Given the description of an element on the screen output the (x, y) to click on. 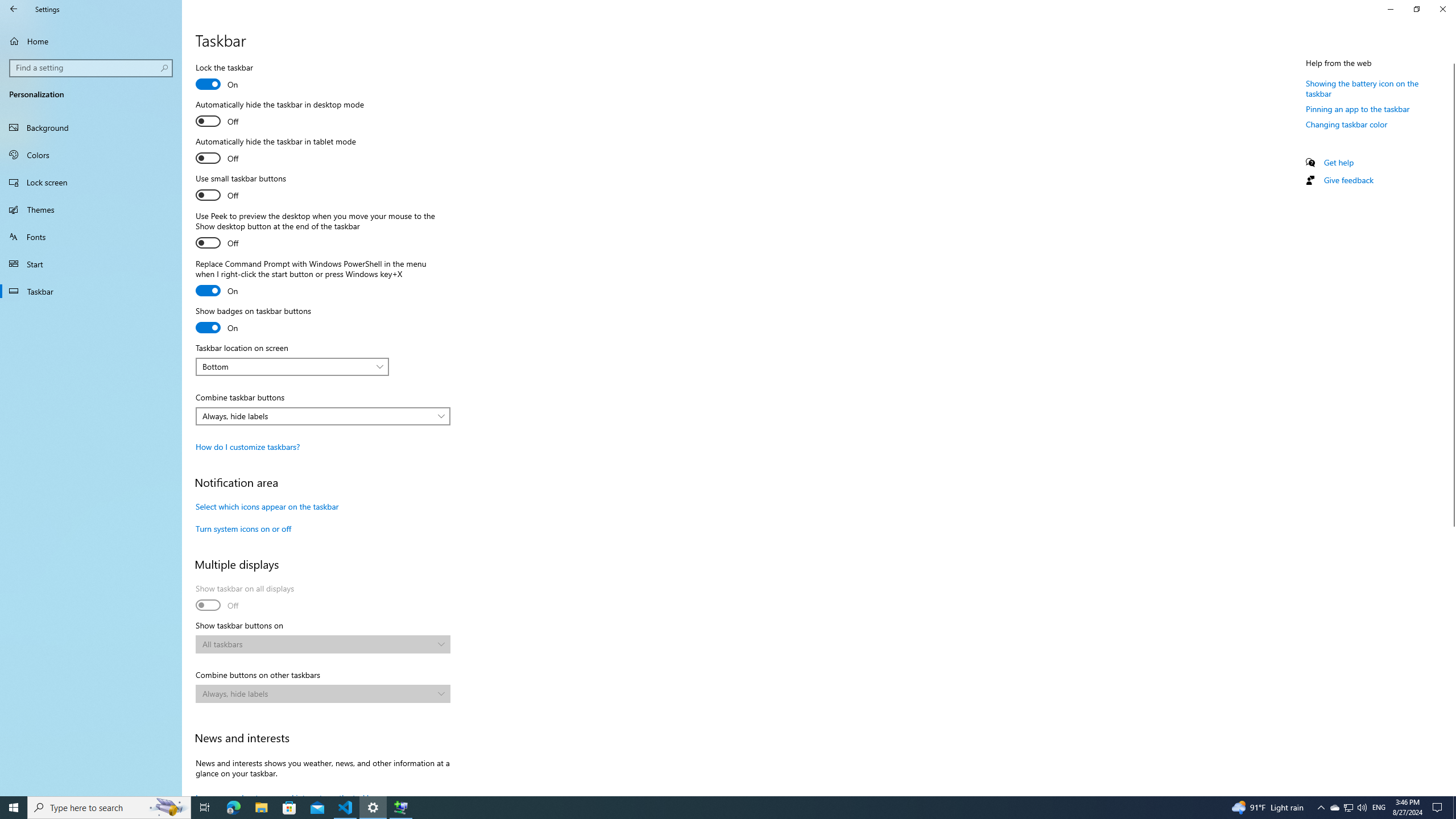
Lock screen (91, 181)
